Given the description of an element on the screen output the (x, y) to click on. 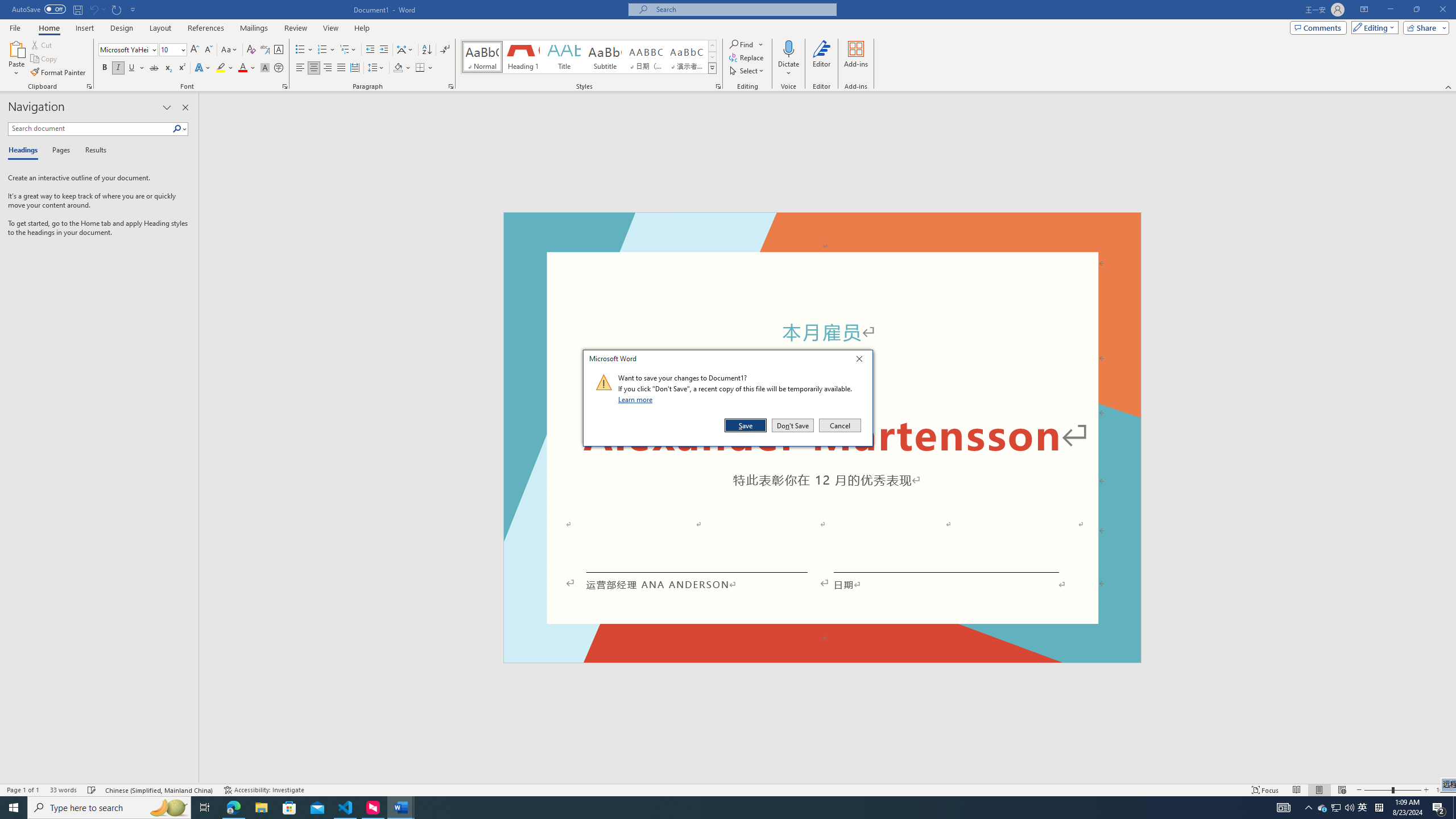
Asian Layout (405, 49)
Title (564, 56)
Bullets (304, 49)
Row up (711, 45)
Task View (204, 807)
Comments (1318, 27)
Collapse the Ribbon (1448, 86)
Copy (45, 58)
Review (295, 28)
Align Left (300, 67)
AutomationID: QuickStylesGallery (588, 56)
Learn more (636, 399)
Action Center, 2 new notifications (1439, 807)
Heading 1 (522, 56)
Start (13, 807)
